Given the description of an element on the screen output the (x, y) to click on. 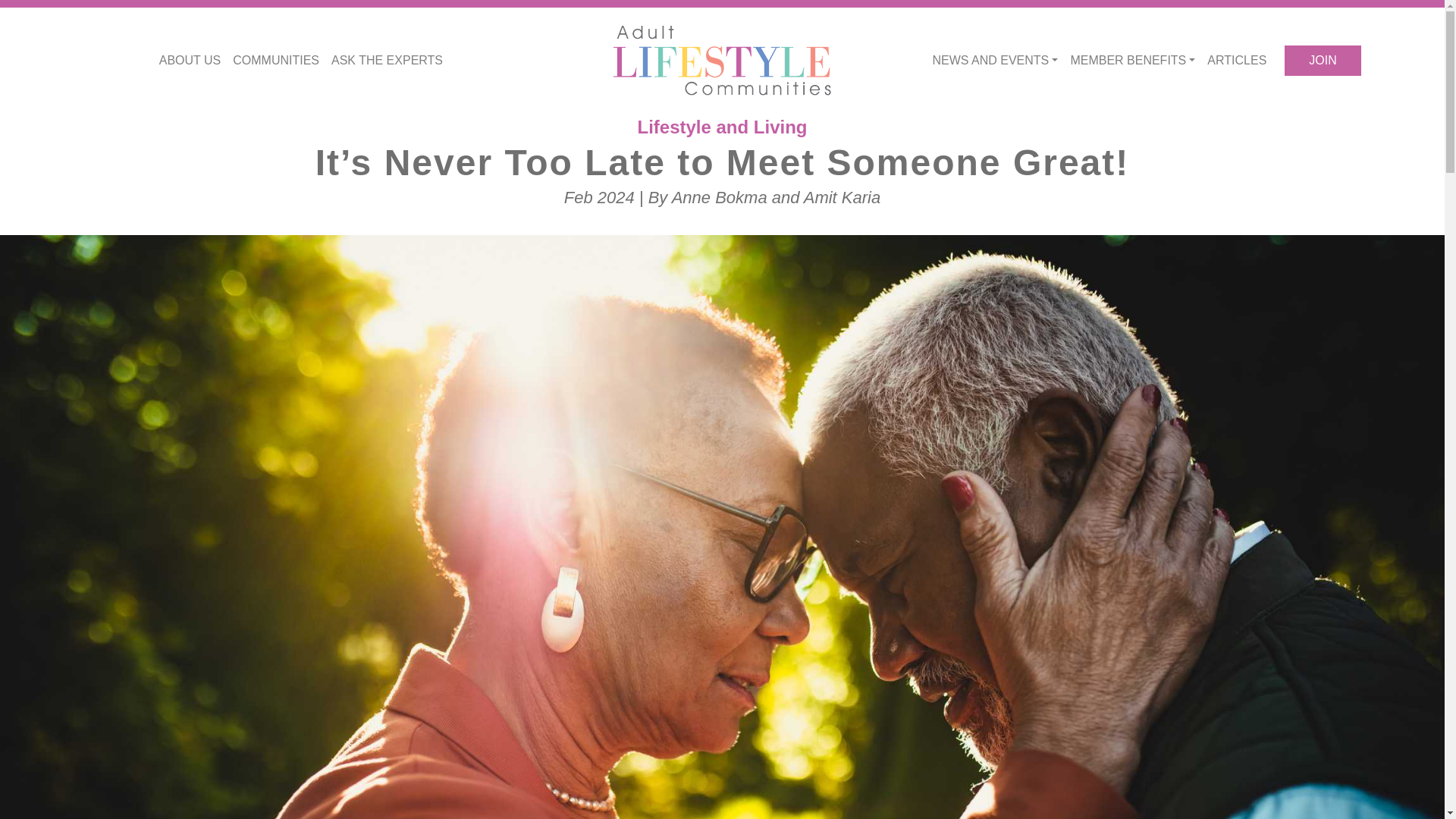
ASK THE EXPERTS (386, 60)
Member Benefits (1132, 60)
ARTICLES (1236, 60)
About Us (189, 60)
Join (1321, 60)
Ask The Experts (386, 60)
COMMUNITIES (275, 60)
News and Events (995, 60)
MEMBER BENEFITS (1132, 60)
Communities (275, 60)
